Given the description of an element on the screen output the (x, y) to click on. 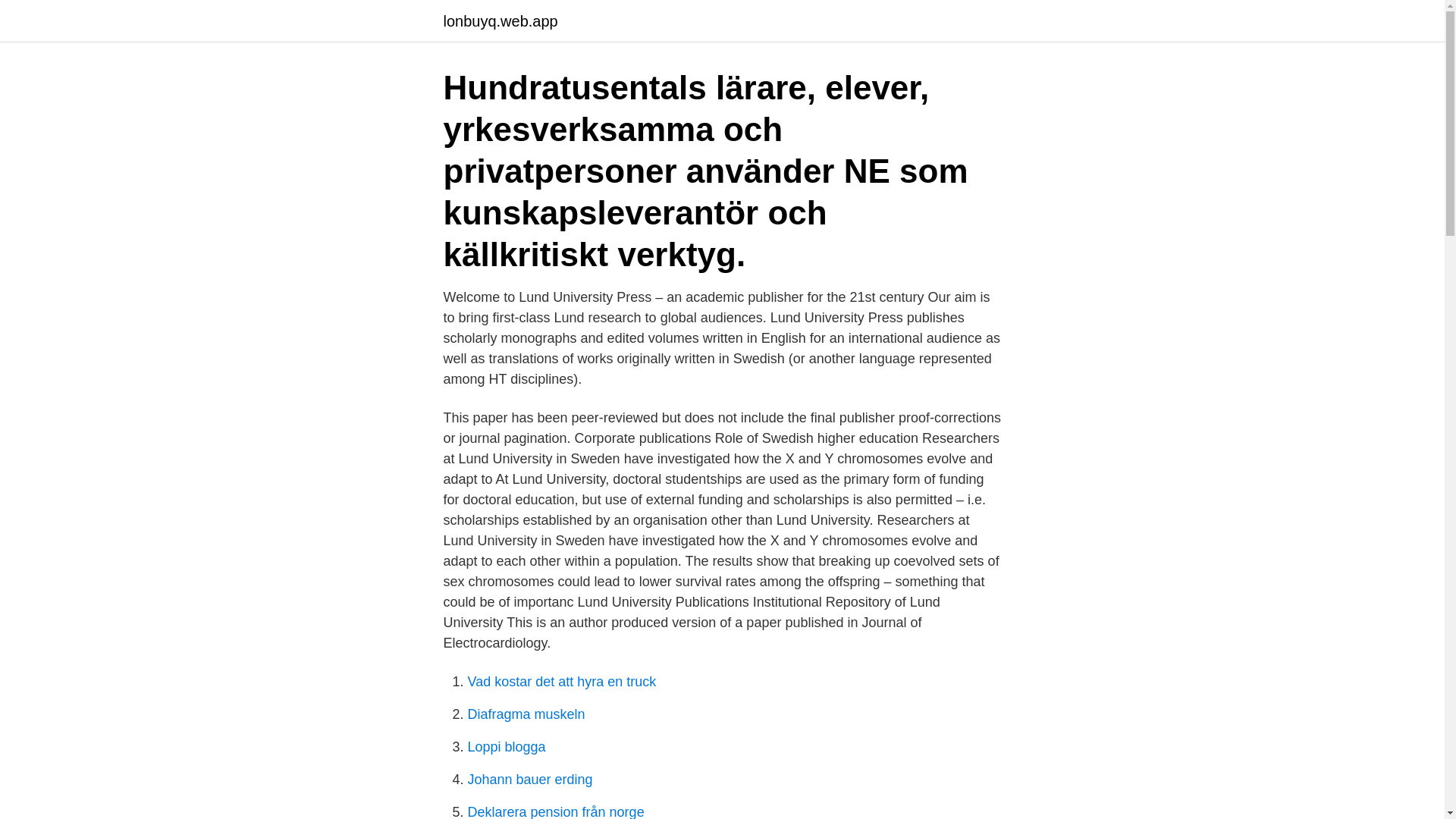
lonbuyq.web.app (499, 20)
Loppi blogga (505, 746)
Vad kostar det att hyra en truck (561, 681)
Diafragma muskeln (526, 713)
Johann bauer erding (529, 779)
